Given the description of an element on the screen output the (x, y) to click on. 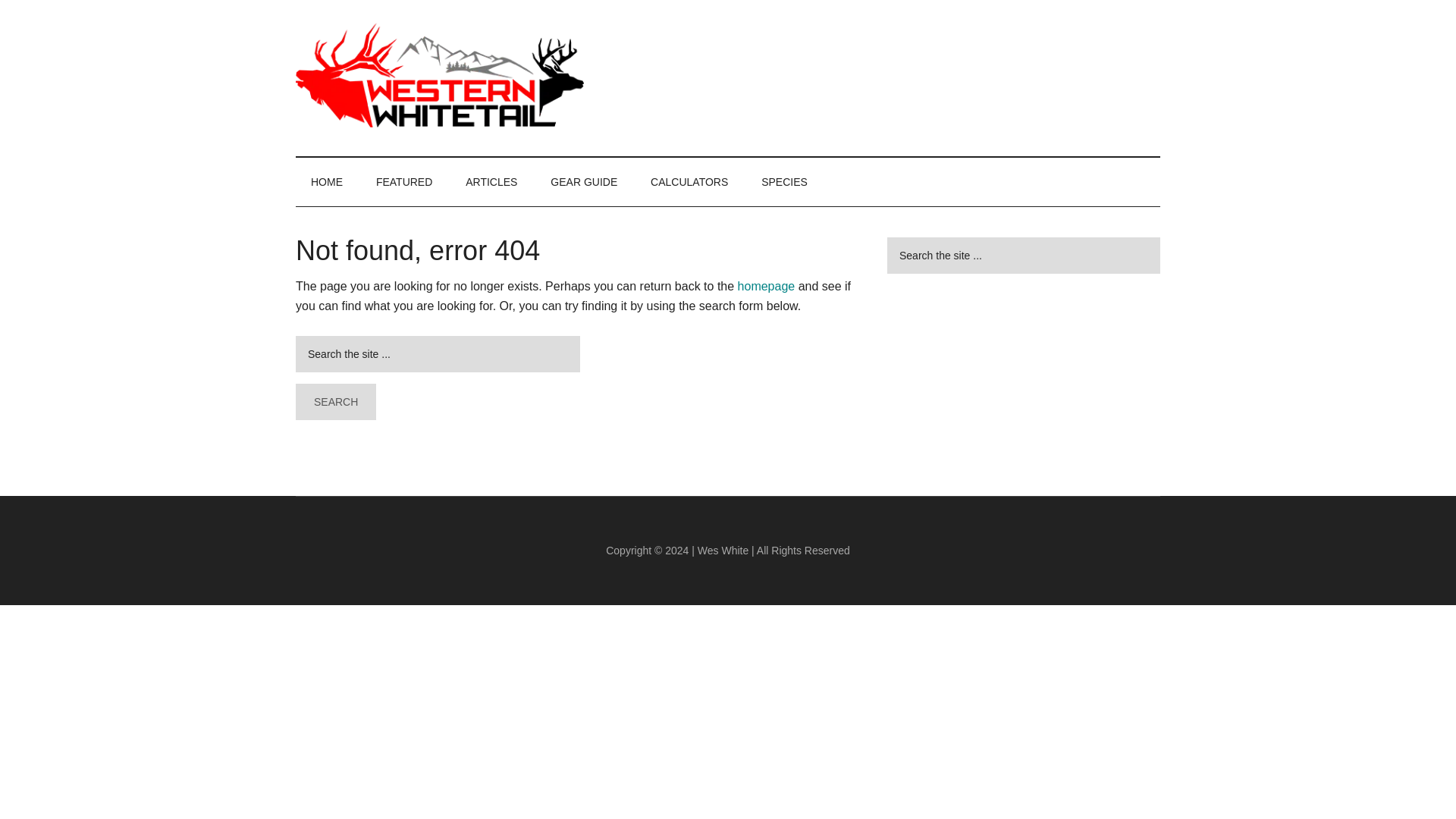
Search (335, 402)
GEAR GUIDE (583, 182)
Search (335, 402)
CALCULATORS (688, 182)
Search (335, 402)
ARTICLES (490, 182)
SPECIES (783, 182)
FEATURED (403, 182)
homepage (766, 286)
HOME (326, 182)
